Given the description of an element on the screen output the (x, y) to click on. 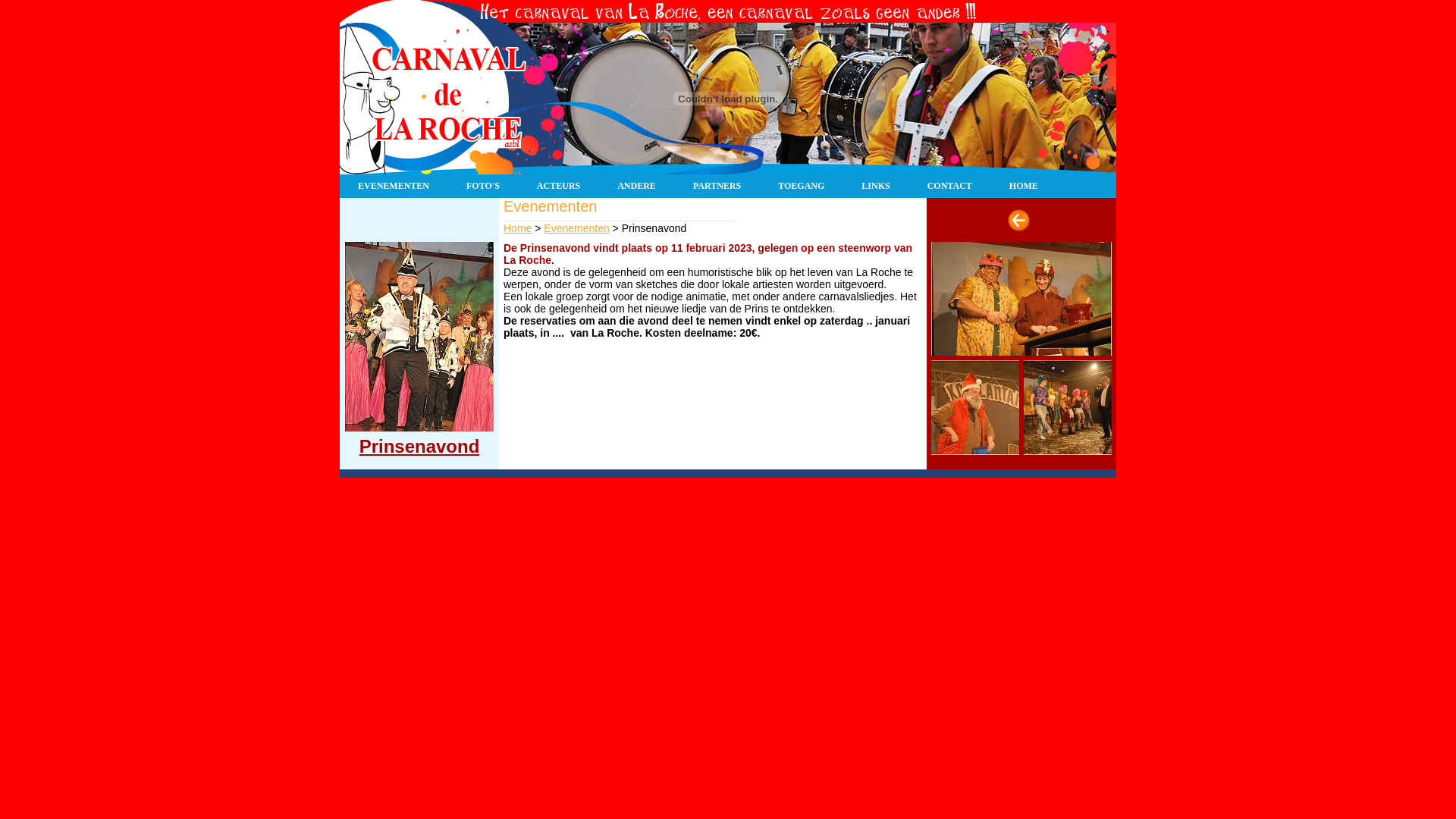
Home Element type: text (517, 228)
CONTACT Element type: text (950, 185)
LINKS Element type: text (875, 185)
ANDERE Element type: text (636, 185)
HOME Element type: text (1024, 185)
TOEGANG Element type: text (801, 185)
ACTEURS Element type: text (558, 185)
Evenementen Element type: text (575, 228)
EVENEMENTEN Element type: text (393, 185)
FOTO'S Element type: text (483, 185)
PARTNERS Element type: text (716, 185)
